Given the description of an element on the screen output the (x, y) to click on. 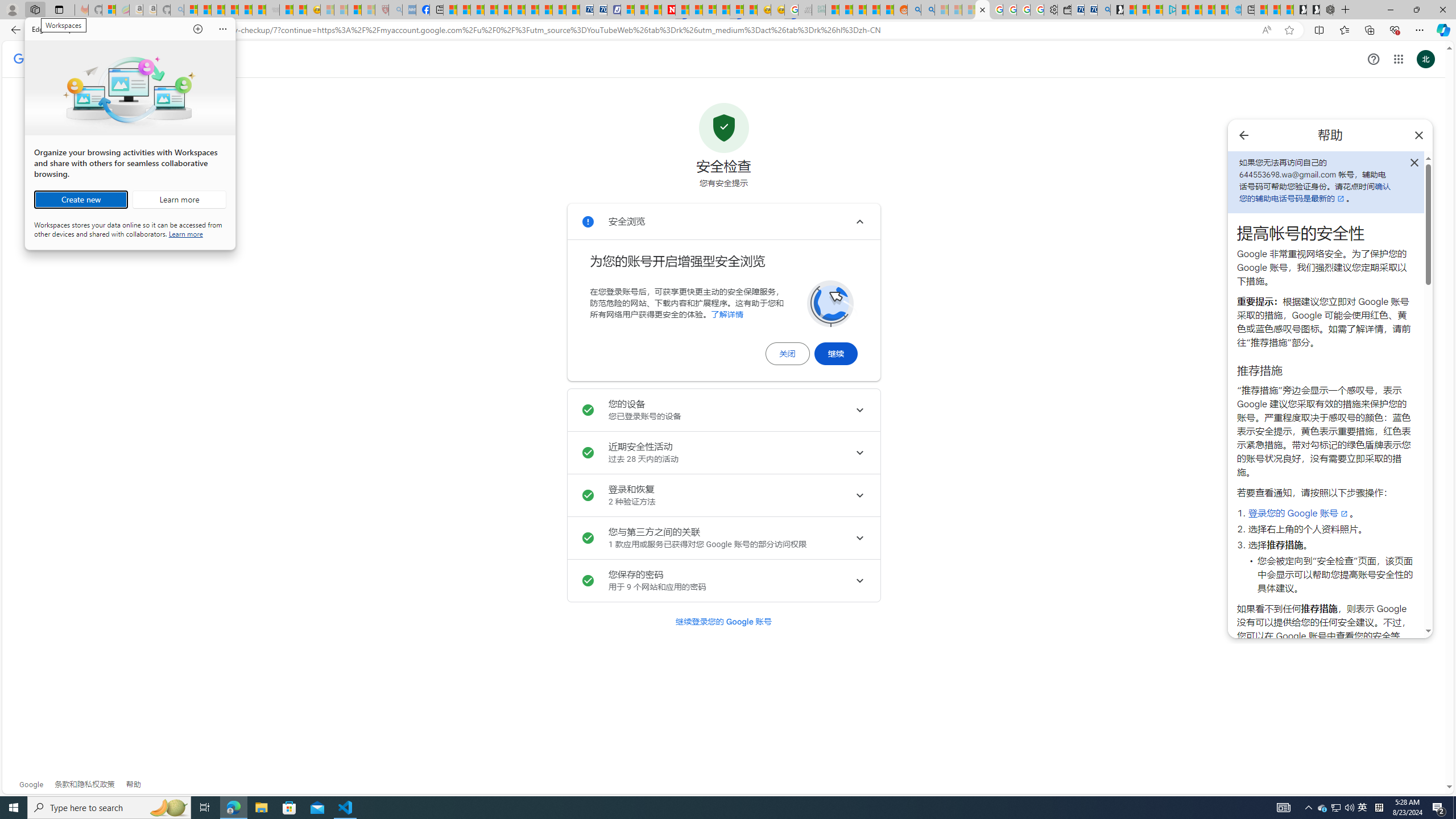
Action Center, 2 new notifications (1439, 807)
Student Loan Update: Forgiveness Program Ends This Month (873, 9)
Search highlights icon opens search home window (167, 807)
MSNBC - MSN (832, 9)
Recipes - MSN - Sleeping (1322, 807)
